Given the description of an element on the screen output the (x, y) to click on. 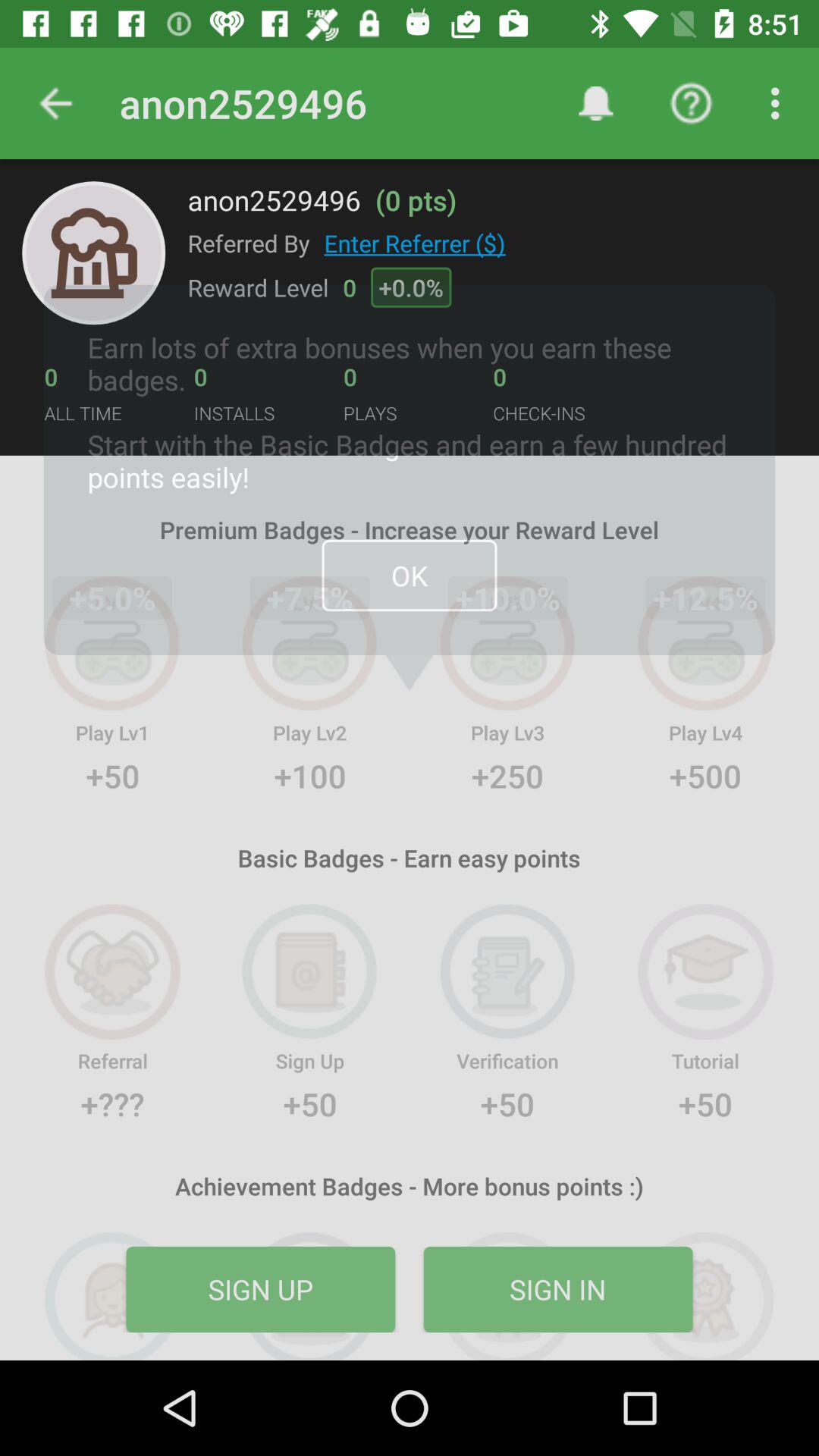
information button (93, 252)
